Given the description of an element on the screen output the (x, y) to click on. 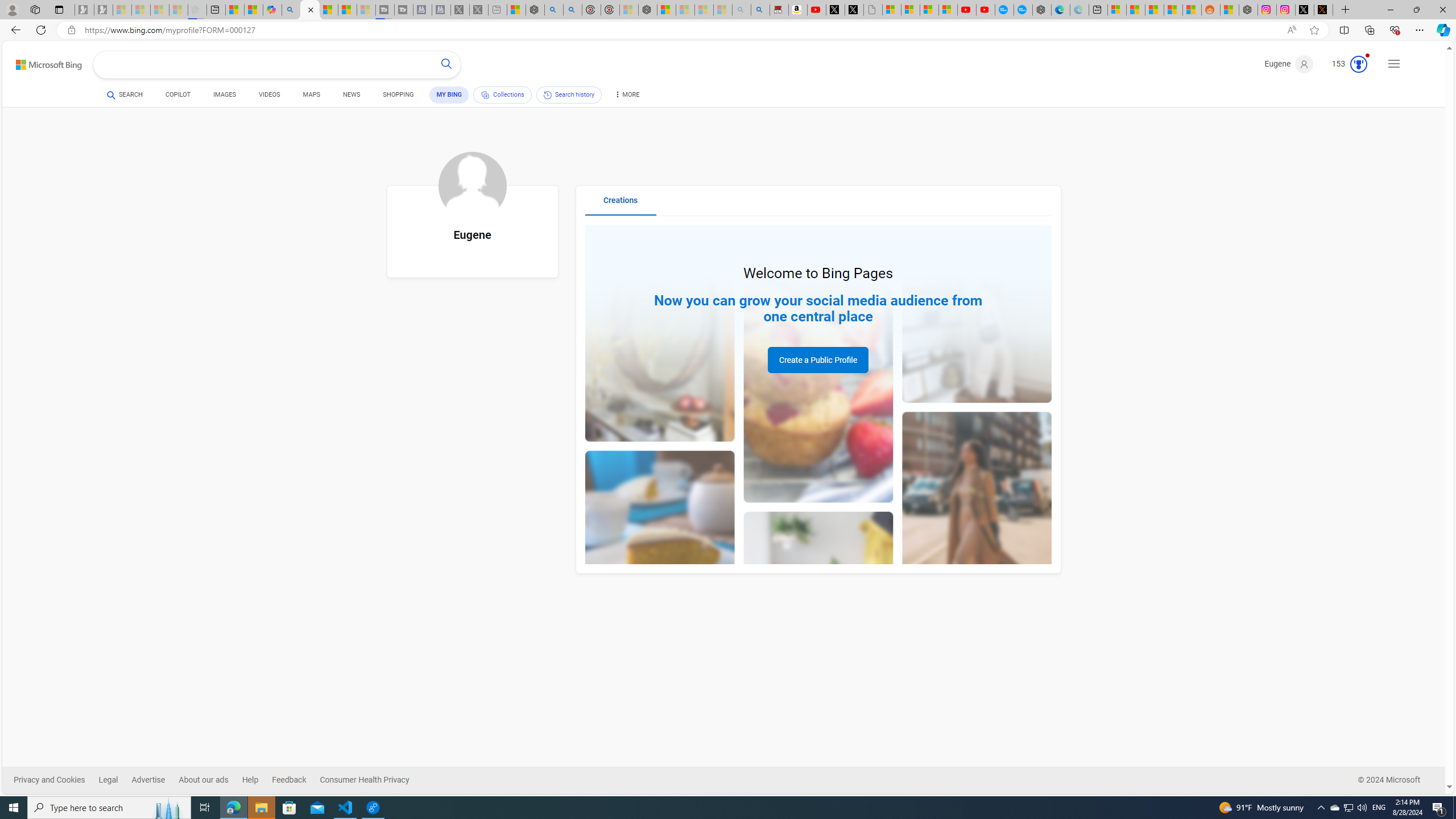
MAPS (311, 94)
Back to Bing search (41, 61)
Newsletter Sign Up - Sleeping (102, 9)
poe - Search (553, 9)
IMAGES (224, 96)
